Given the description of an element on the screen output the (x, y) to click on. 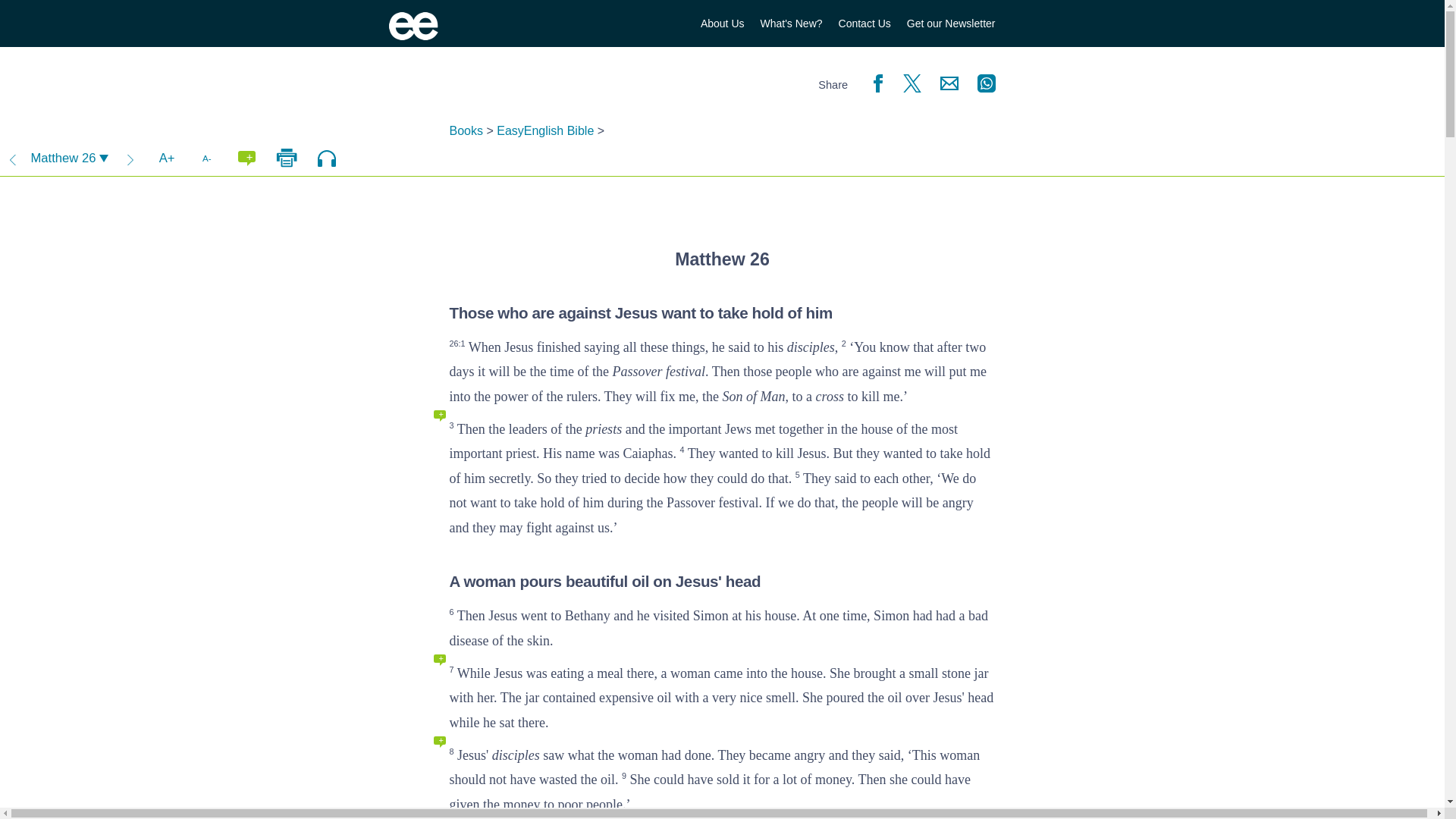
Matthew 27 (130, 158)
Make Text Larger (166, 158)
About Us (722, 23)
Contact Us (864, 23)
Listen (326, 158)
What's New? (791, 23)
Get our Newsletter (951, 23)
Make Text Smaller (207, 158)
A- (207, 158)
Index (68, 158)
